Given the description of an element on the screen output the (x, y) to click on. 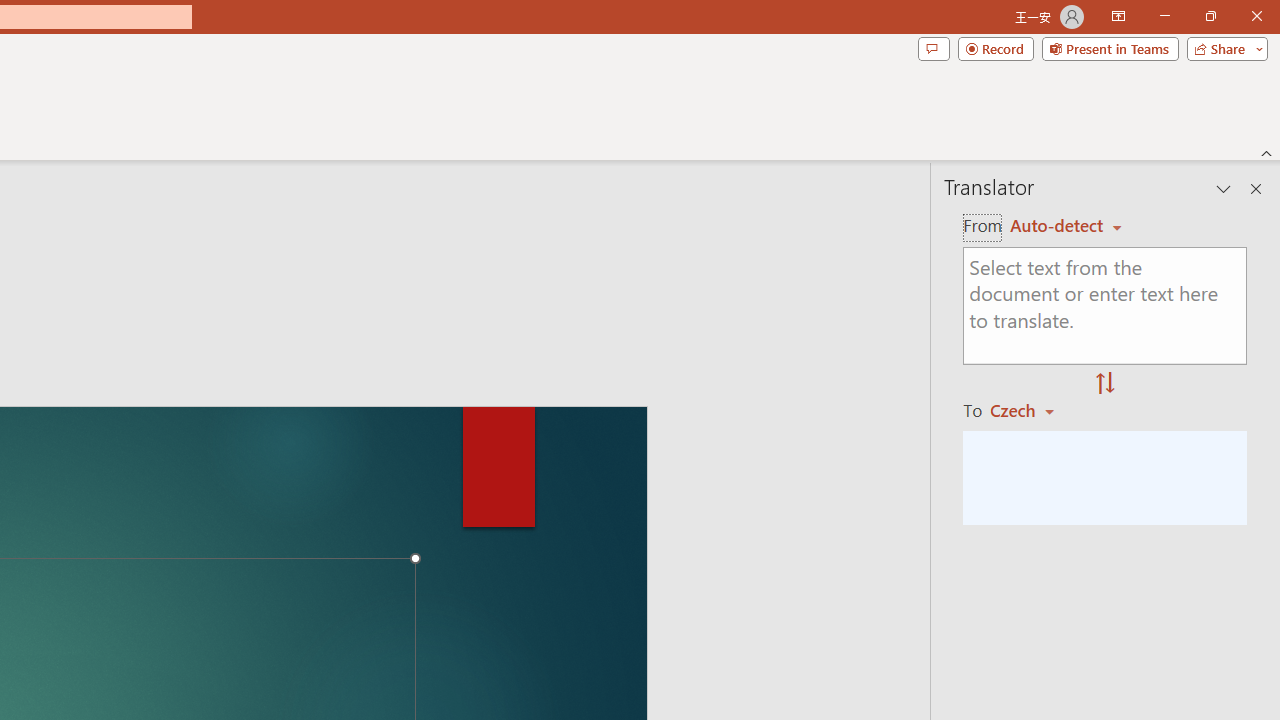
Task Pane Options (1224, 188)
Swap "from" and "to" languages. (1105, 383)
Auto-detect (1066, 225)
